Given the description of an element on the screen output the (x, y) to click on. 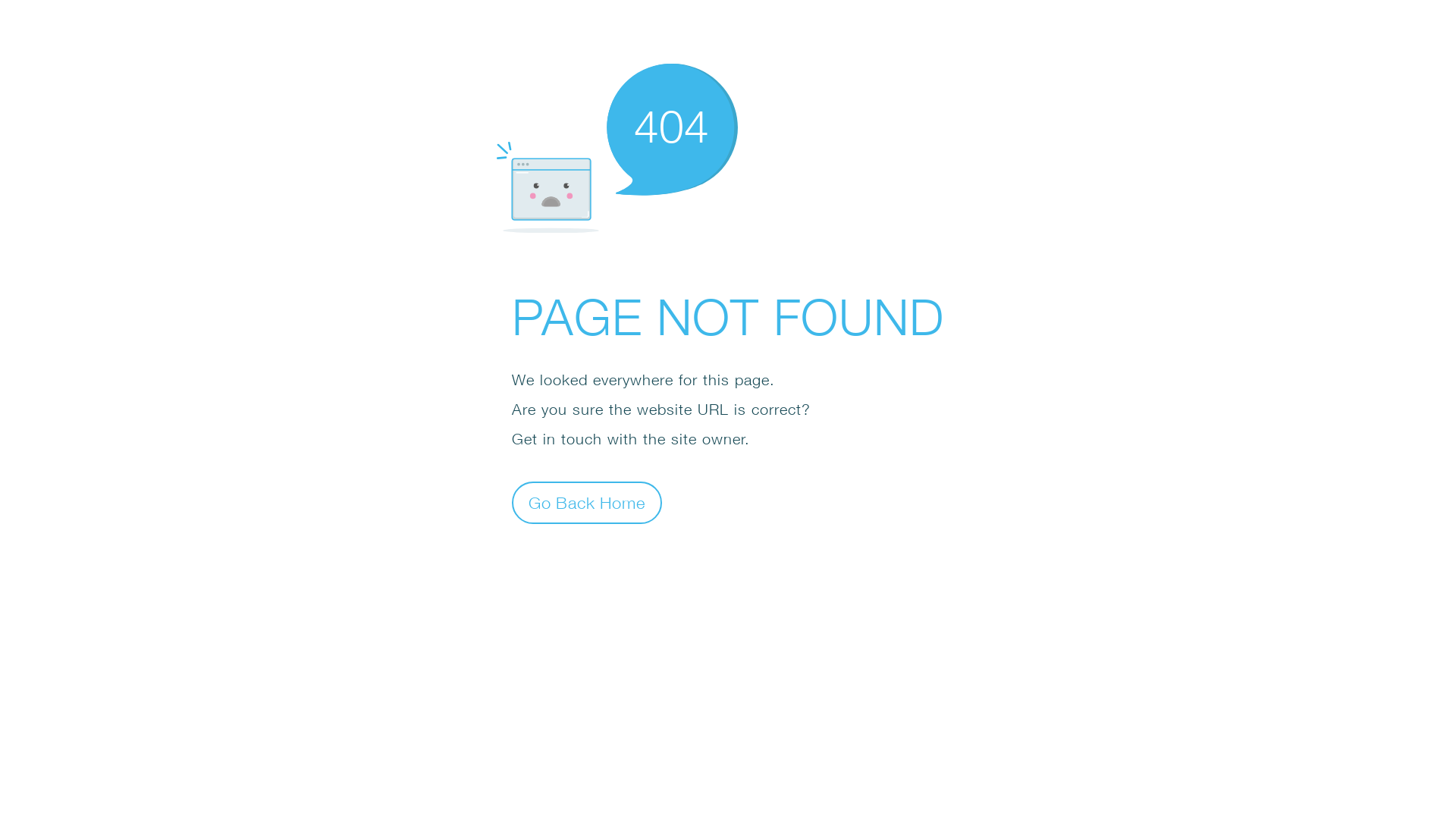
Go Back Home Element type: text (586, 502)
